Given the description of an element on the screen output the (x, y) to click on. 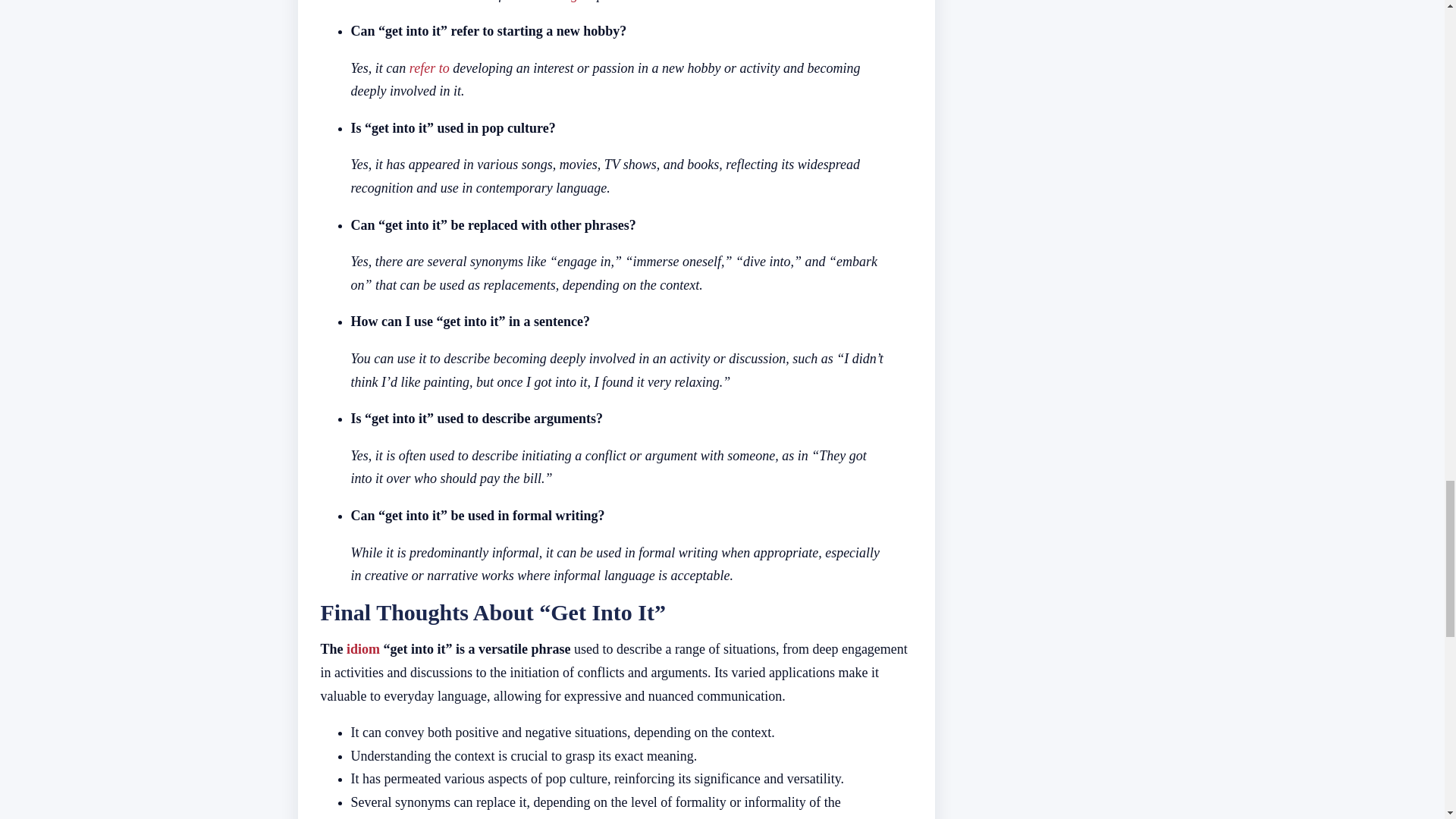
idiom (363, 648)
refer to (429, 68)
writing (558, 0)
